Given the description of an element on the screen output the (x, y) to click on. 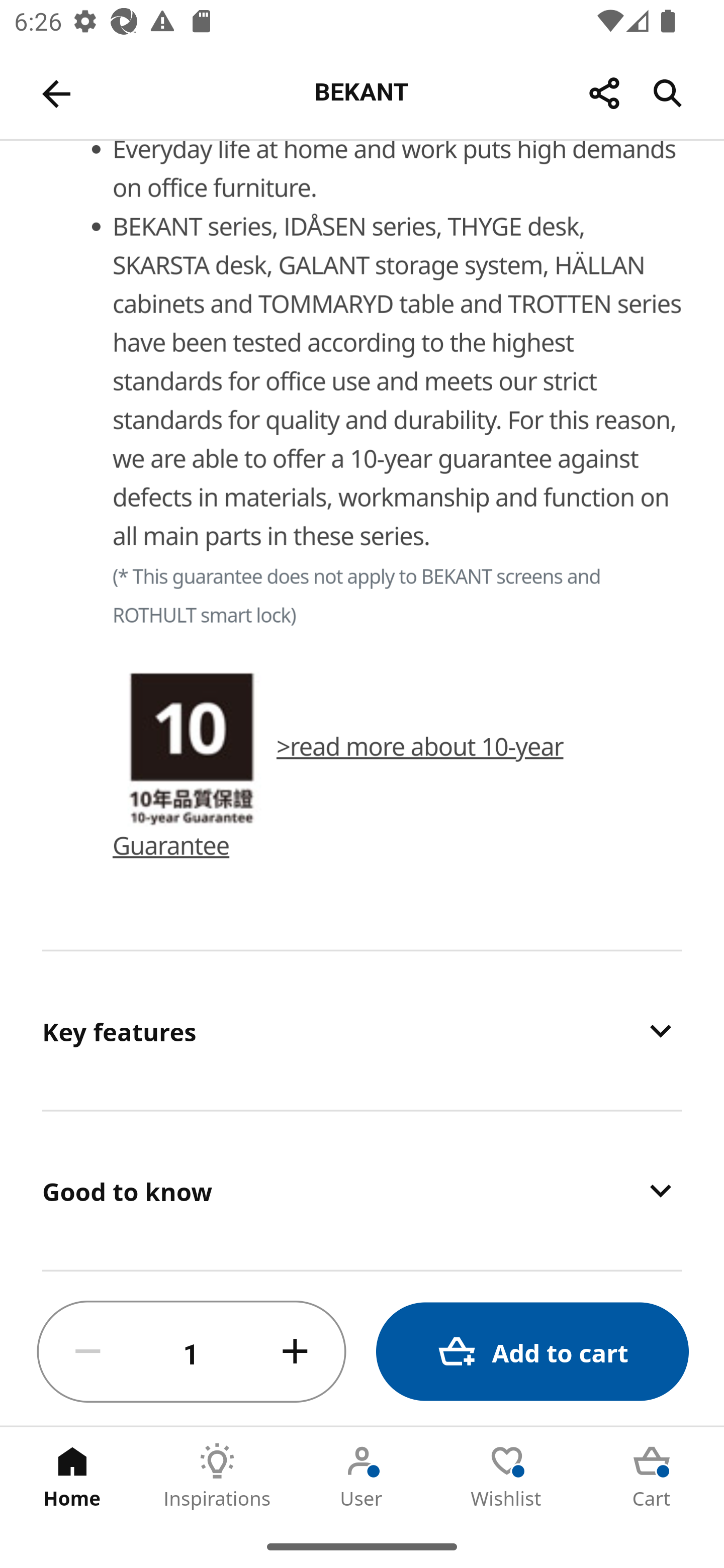
bekant-galant-hallen-guarantee (191, 747)
>read more about 10-year Guarantee (338, 795)
Key features (361, 1030)
Good to know (361, 1190)
Add to cart (531, 1352)
1 (191, 1352)
Home
Tab 1 of 5 (72, 1476)
Inspirations
Tab 2 of 5 (216, 1476)
User
Tab 3 of 5 (361, 1476)
Wishlist
Tab 4 of 5 (506, 1476)
Cart
Tab 5 of 5 (651, 1476)
